Given the description of an element on the screen output the (x, y) to click on. 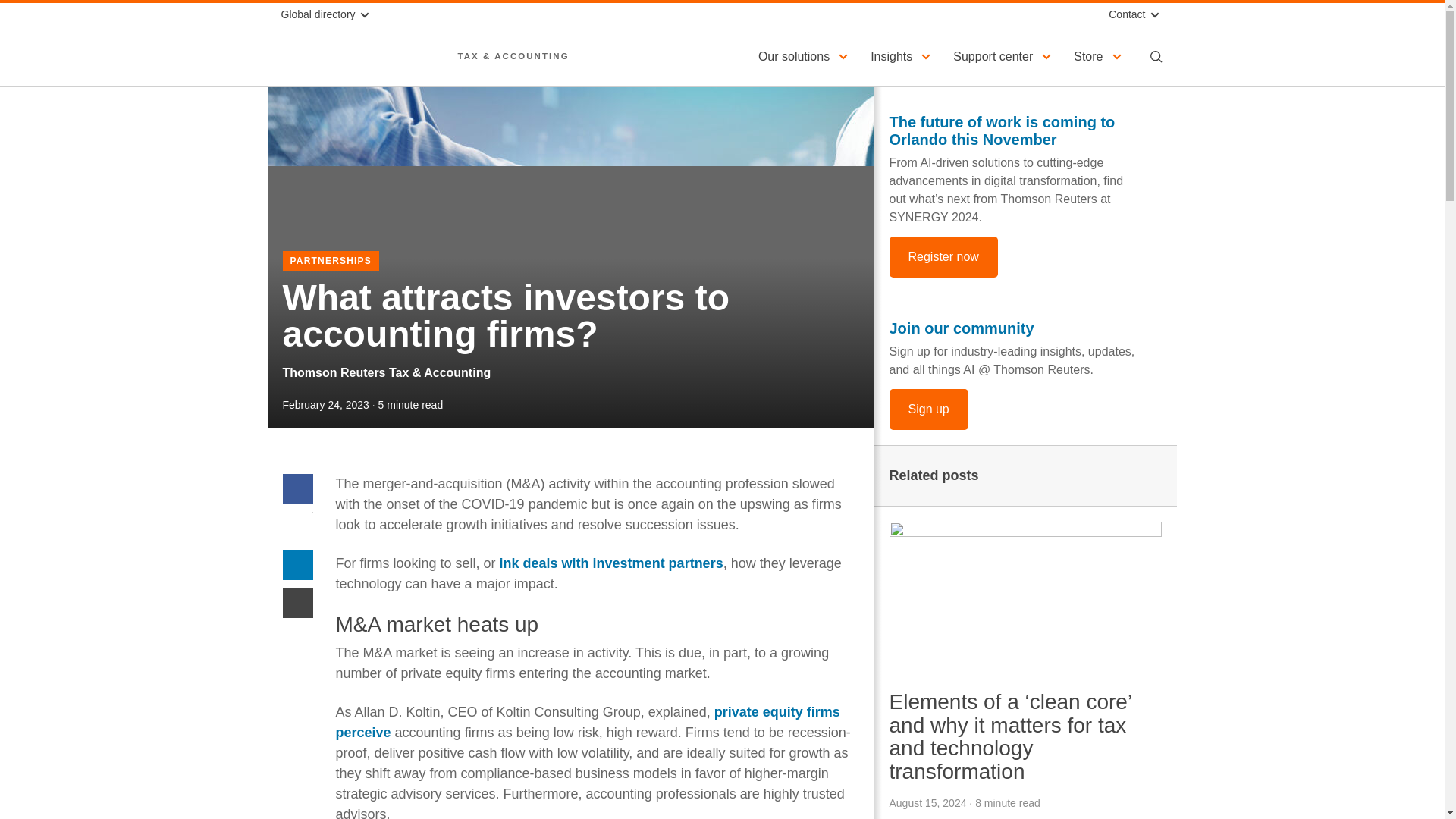
Thomson Reuters (355, 56)
Our solutions (805, 56)
Contact (1131, 14)
Twitter (297, 525)
Linkedin (297, 563)
Global directory (331, 14)
Email (297, 601)
Facebook (297, 487)
February 24, 2023 (325, 404)
